Given the description of an element on the screen output the (x, y) to click on. 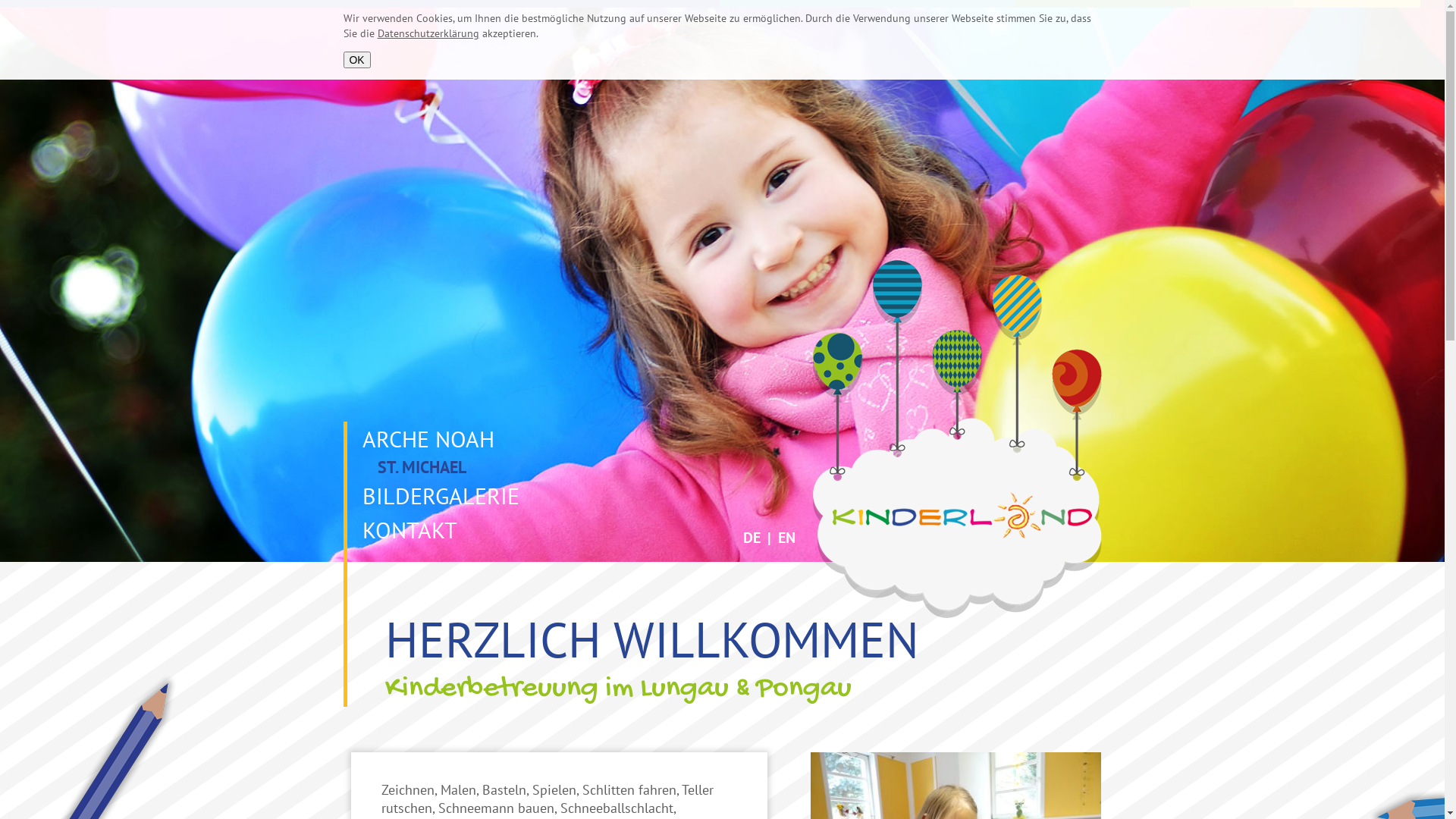
OK Element type: text (356, 59)
EN Element type: text (786, 537)
BILDERGALERIE Element type: text (437, 495)
  Element type: text (357, 546)
DE Element type: text (751, 537)
ARCHE NOAH Element type: text (424, 438)
ST. MICHAEL Element type: text (410, 466)
KONTAKT Element type: text (405, 529)
